Given the description of an element on the screen output the (x, y) to click on. 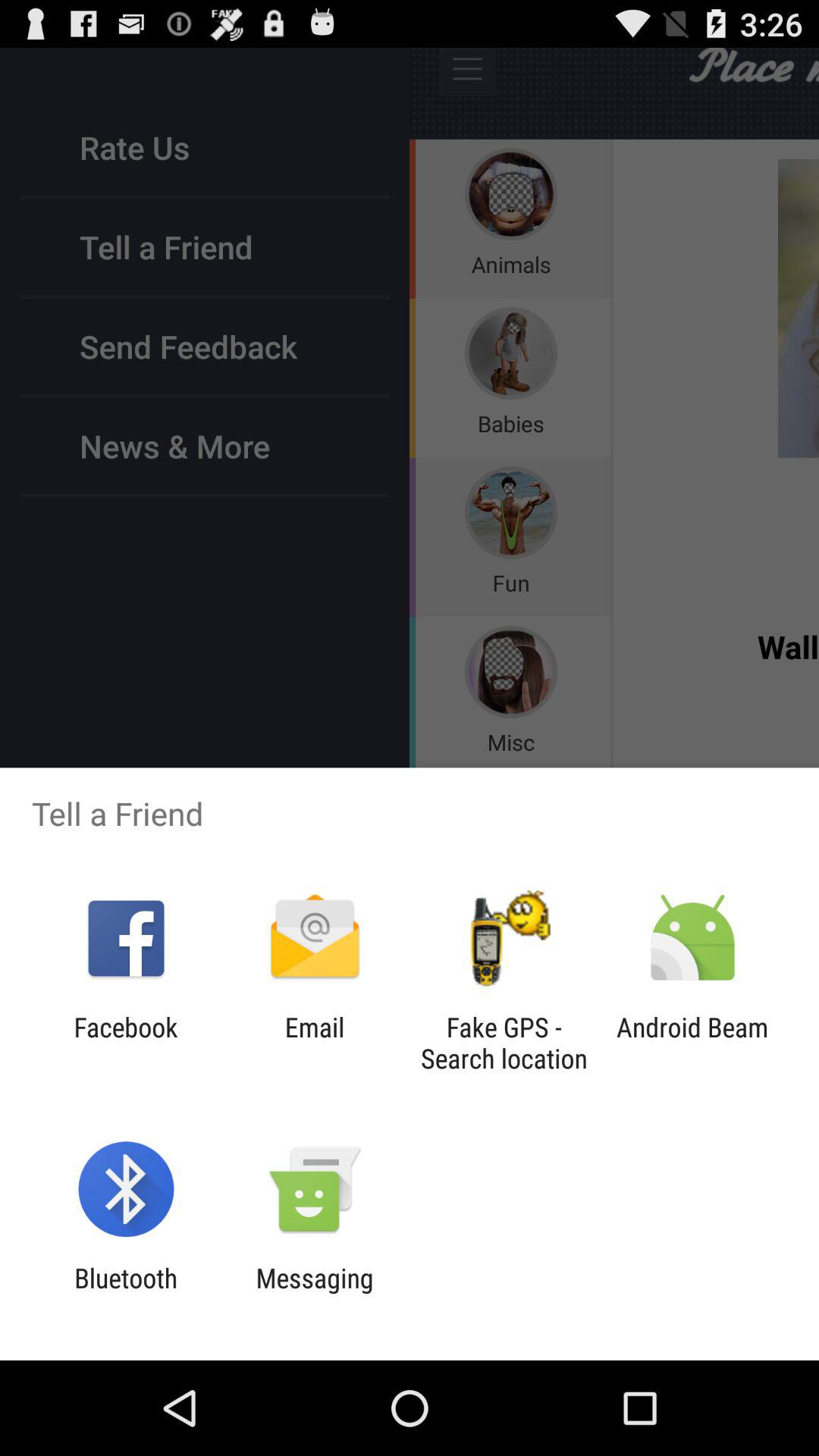
press the icon next to the email (503, 1042)
